Given the description of an element on the screen output the (x, y) to click on. 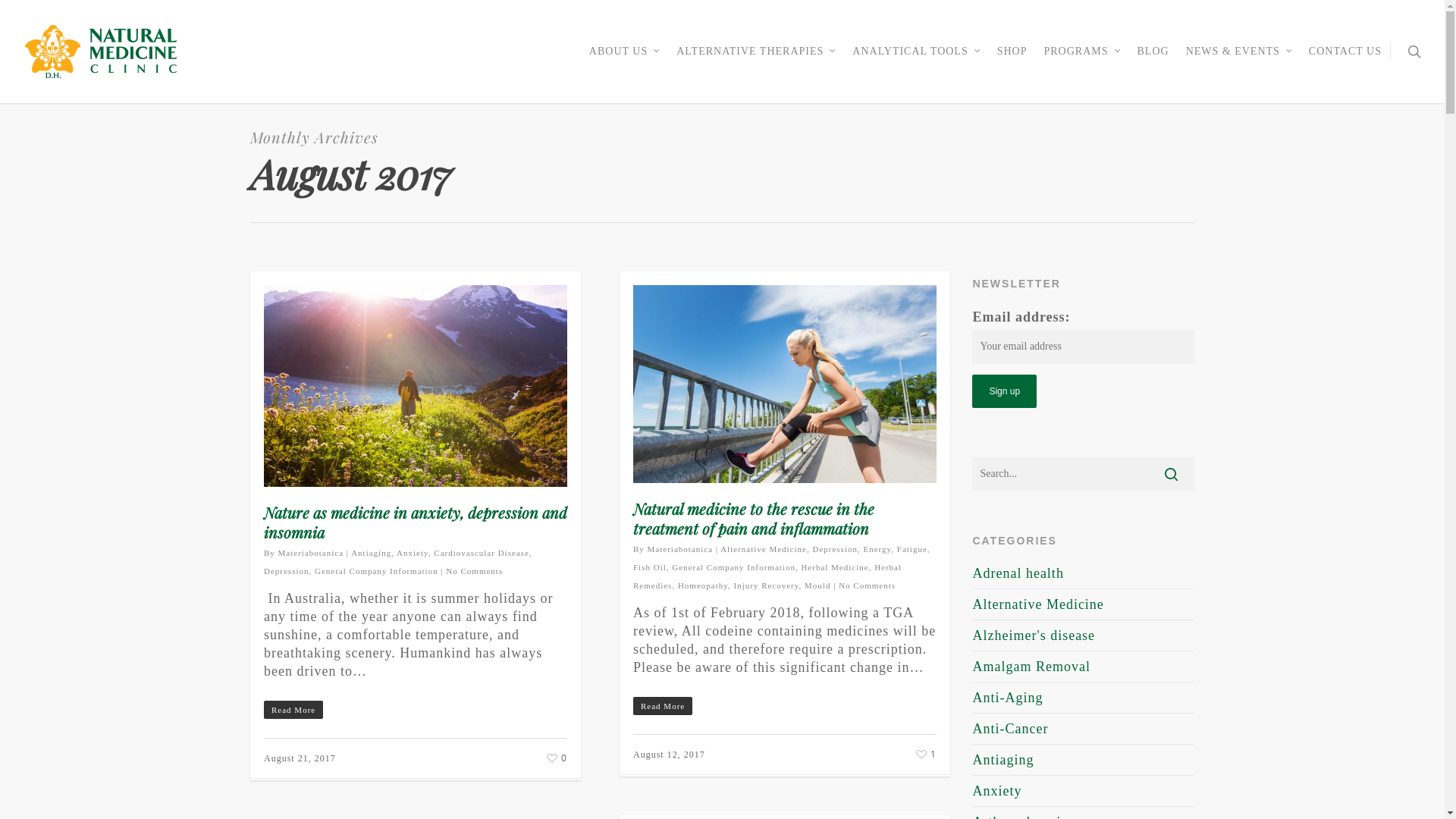
No Comments Element type: text (473, 570)
Alternative Medicine Element type: text (763, 548)
ABOUT US Element type: text (624, 62)
BLOG Element type: text (1152, 62)
Read More Element type: text (415, 708)
Injury Recovery Element type: text (766, 584)
Fish Oil Element type: text (649, 566)
Energy Element type: text (876, 548)
SHOP Element type: text (1012, 62)
Depression Element type: text (834, 548)
ANALYTICAL TOOLS Element type: text (915, 62)
Adrenal health Element type: text (1083, 576)
Sign up Element type: text (1004, 390)
ALTERNATIVE THERAPIES Element type: text (755, 62)
Anti-Cancer Element type: text (1083, 728)
Depression Element type: text (286, 570)
Materiabotanica Element type: text (679, 548)
Anxiety Element type: text (1083, 790)
CONTACT US Element type: text (1345, 62)
Alternative Medicine Element type: text (1083, 604)
Anxiety Element type: text (412, 552)
1 Element type: text (924, 752)
Fatigue Element type: text (912, 548)
Anti-Aging Element type: text (1083, 697)
General Company Information Element type: text (376, 570)
Herbal Remedies Element type: text (767, 575)
General Company Information Element type: text (733, 566)
PROGRAMS Element type: text (1081, 62)
Read More Element type: text (784, 705)
Herbal Medicine Element type: text (834, 566)
0 Element type: text (555, 756)
Amalgam Removal Element type: text (1083, 666)
Materiabotanica Element type: text (310, 552)
Cardiovascular Disease Element type: text (481, 552)
Nature as medicine in anxiety, depression and insomnia Element type: text (415, 522)
No Comments Element type: text (866, 584)
NEWS & EVENTS Element type: text (1238, 62)
Search for: Element type: hover (1083, 473)
Alzheimer's disease Element type: text (1083, 635)
Homeopathy Element type: text (702, 584)
Antiaging Element type: text (1083, 759)
Antiaging Element type: text (371, 552)
Mould Element type: text (817, 584)
